Given the description of an element on the screen output the (x, y) to click on. 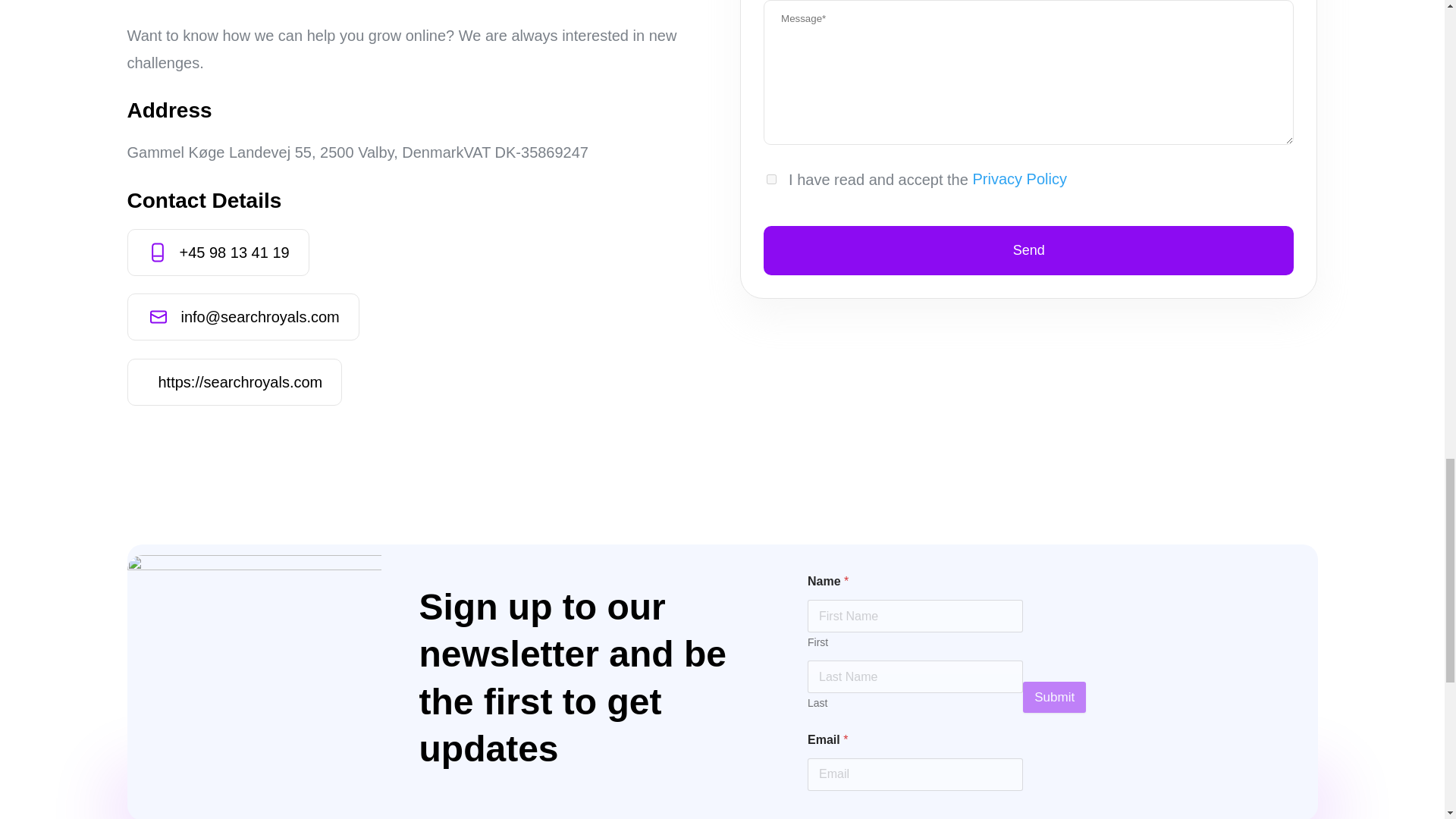
Submit (1054, 695)
Privacy Policy (1017, 178)
si (254, 682)
I have read and accept the (771, 179)
Send (1028, 250)
Send (1028, 250)
